Given the description of an element on the screen output the (x, y) to click on. 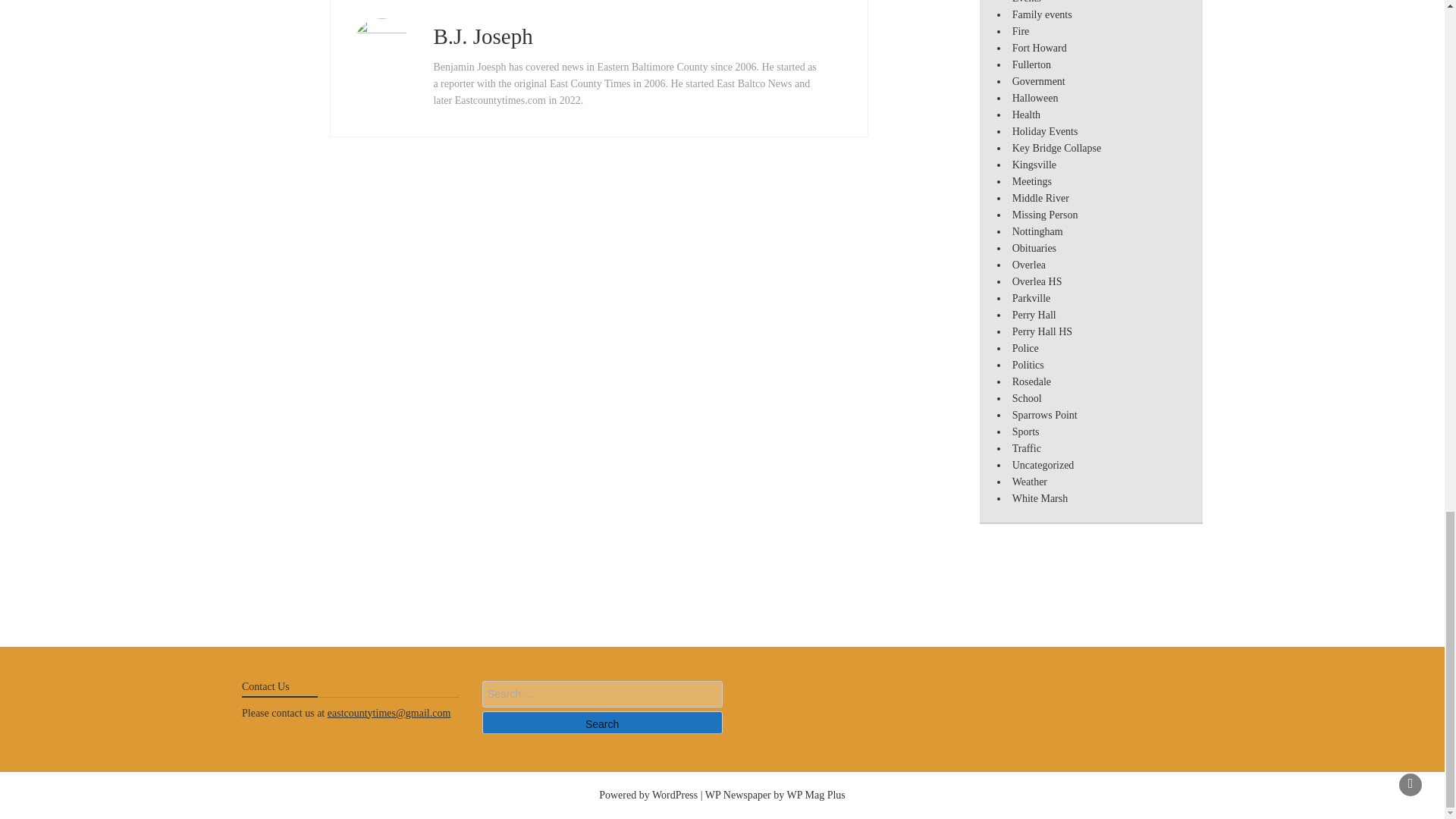
B.J. Joseph (482, 36)
Search (601, 722)
Search (601, 722)
Search for: (601, 693)
